Given the description of an element on the screen output the (x, y) to click on. 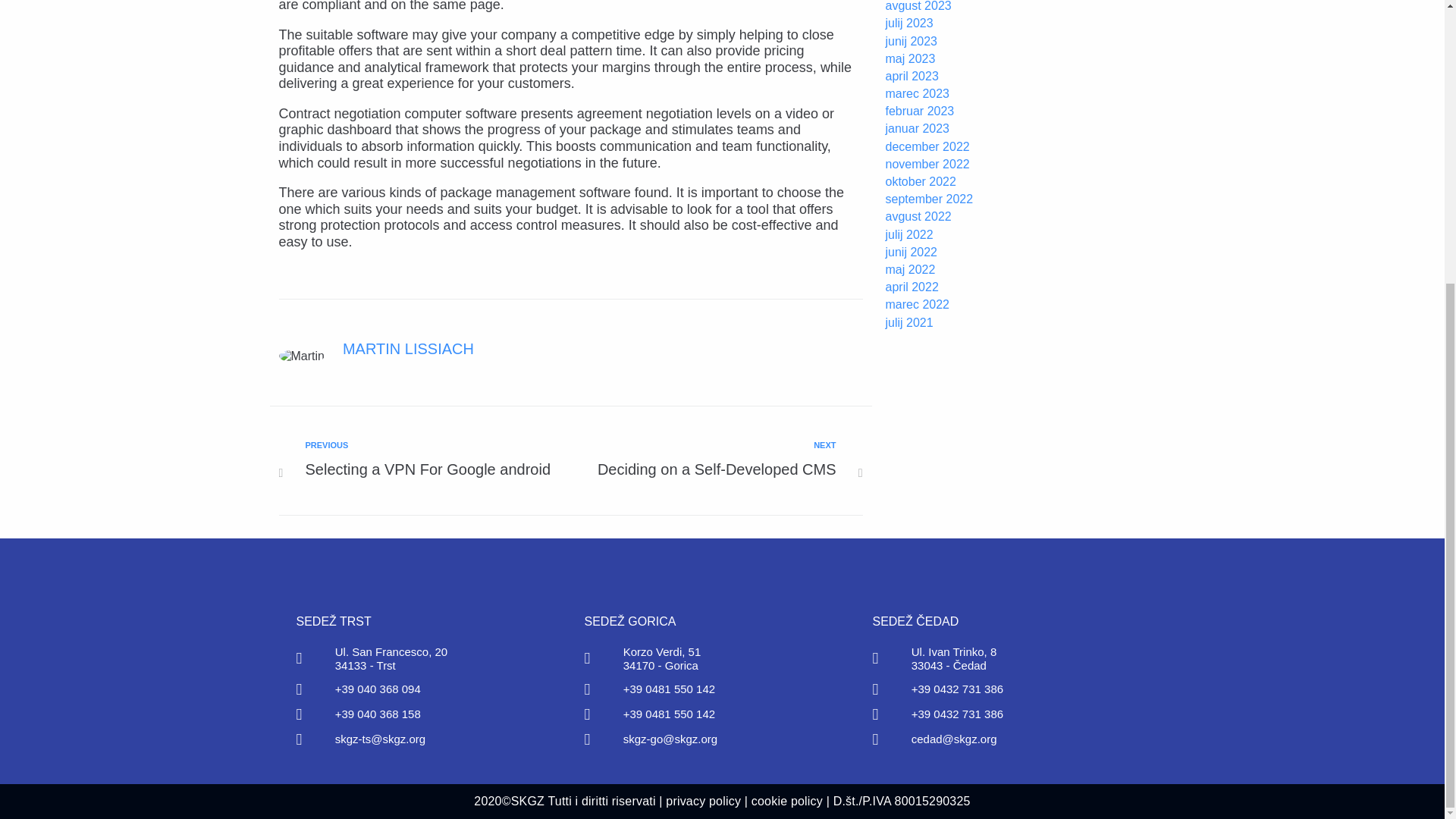
MARTIN LISSIACH (708, 460)
